Given the description of an element on the screen output the (x, y) to click on. 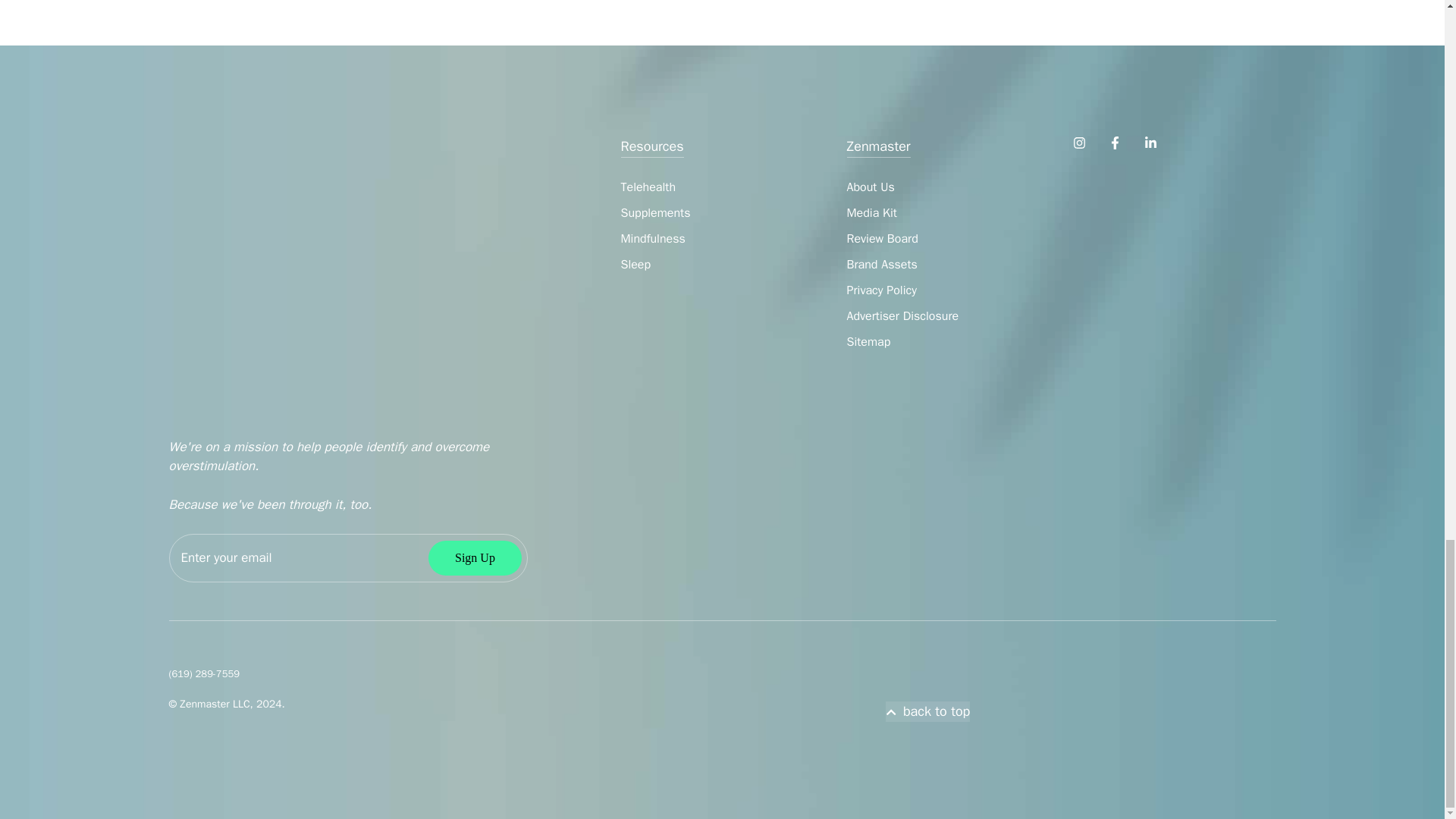
Privacy Policy (880, 290)
Sleep (635, 264)
Media Kit (870, 212)
Advertiser Disclosure (901, 315)
Supplements (655, 212)
Review Board (881, 238)
About Us (869, 186)
Sitemap (867, 341)
back to top (928, 711)
Sign Up (474, 557)
